Given the description of an element on the screen output the (x, y) to click on. 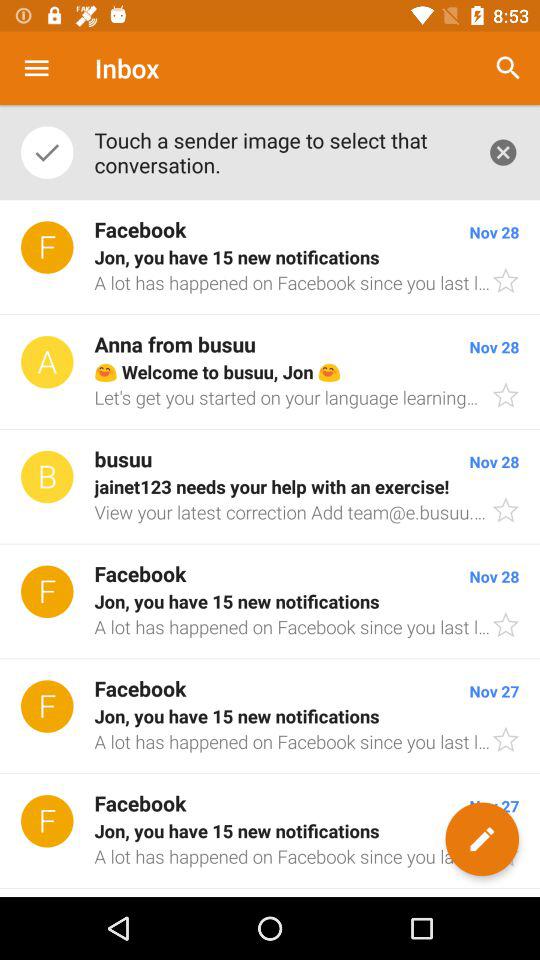
choose icon to the right of touch a sender icon (503, 152)
